Given the description of an element on the screen output the (x, y) to click on. 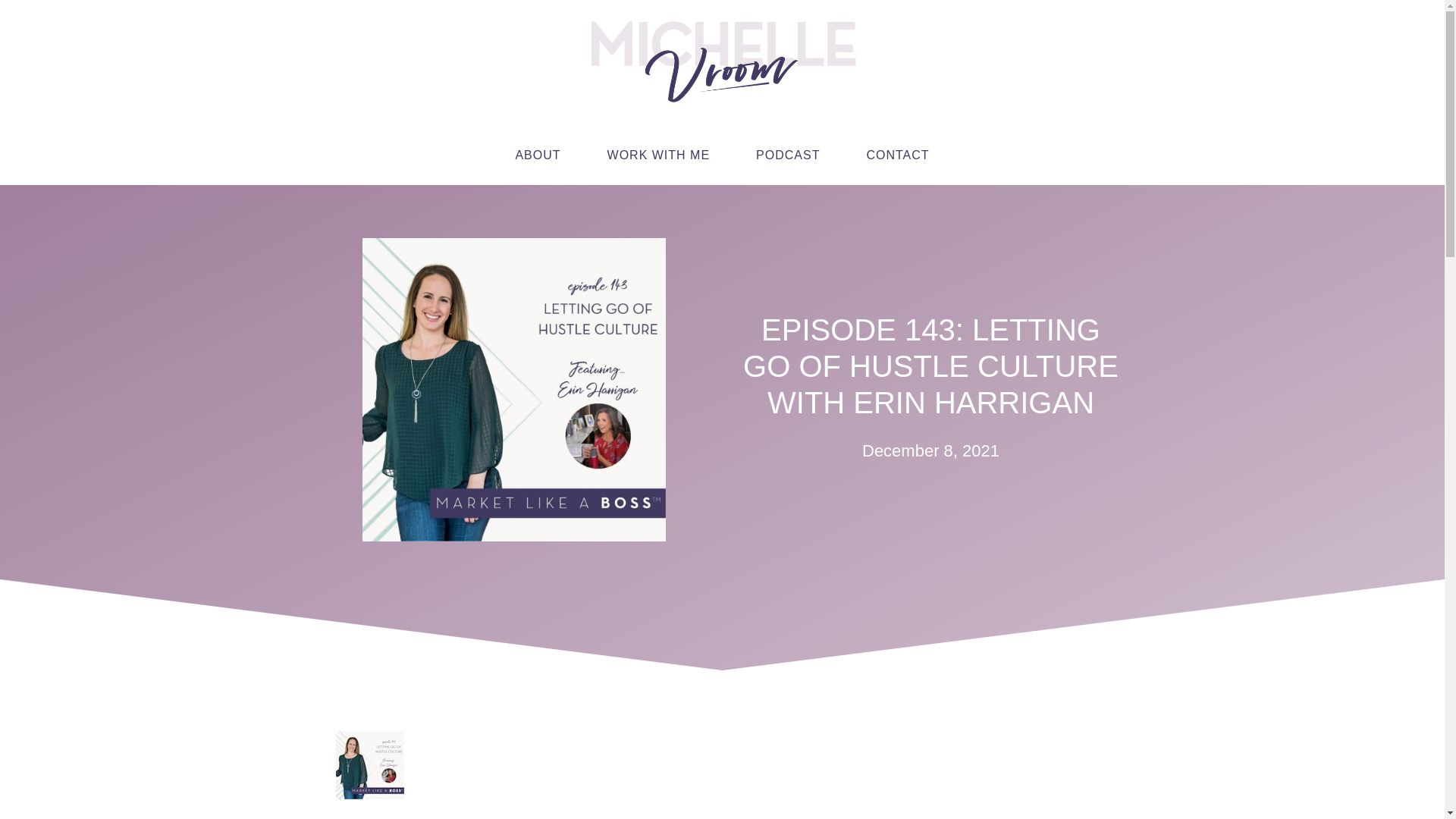
PODCAST (788, 155)
ABOUT (537, 155)
Episode 143 - Social Graphic (513, 389)
Primary Purple copy (722, 62)
CONTACT (897, 155)
WORK WITH ME (659, 155)
Libsyn Player (721, 765)
